Given the description of an element on the screen output the (x, y) to click on. 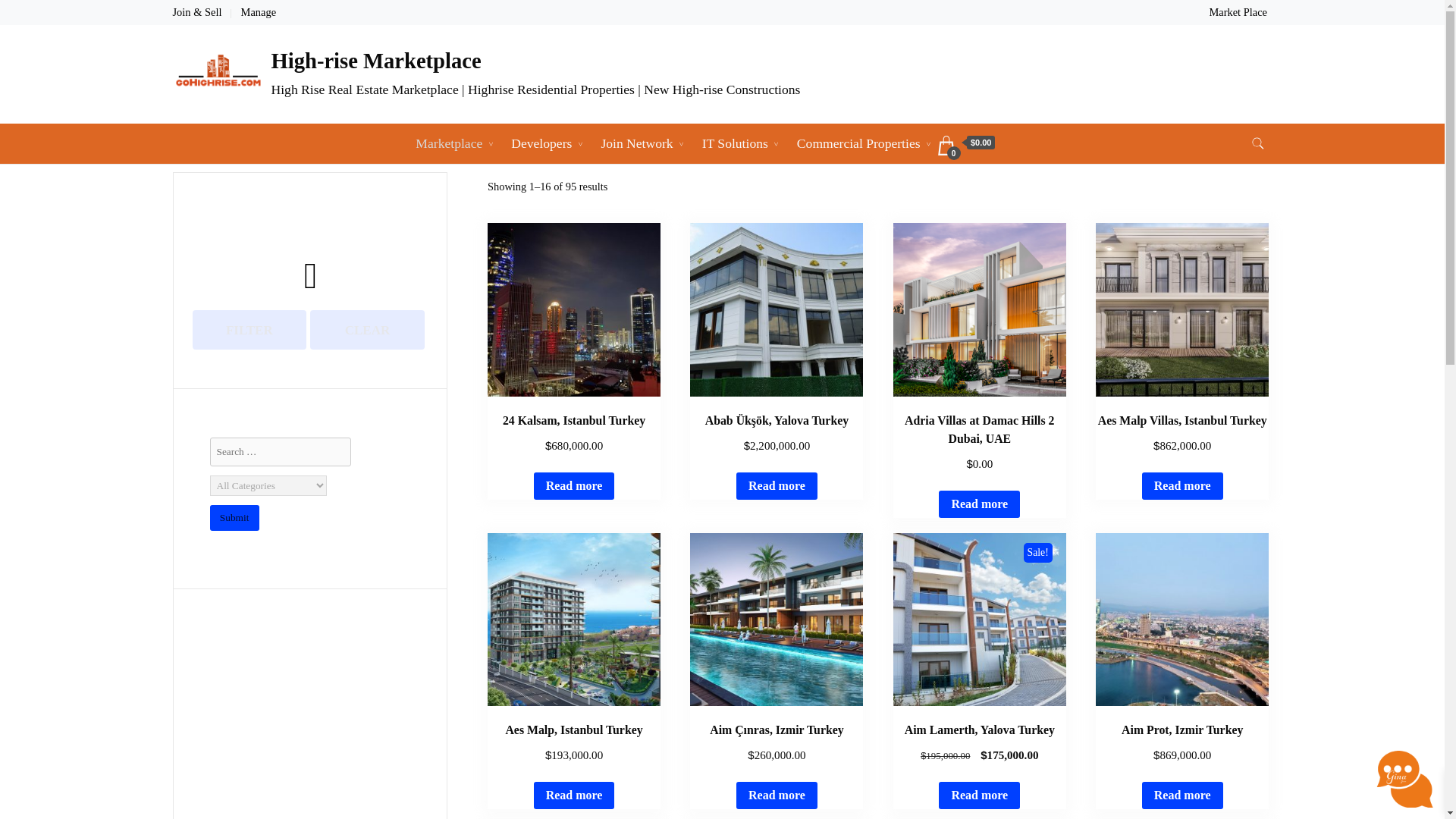
High-rise Marketplace (375, 60)
Market Place (1237, 11)
Manage (258, 11)
Commercial Properties (858, 143)
IT Solutions (734, 143)
Marketplace (449, 143)
Developers (541, 143)
Submit (234, 518)
Join Network (636, 143)
